Given the description of an element on the screen output the (x, y) to click on. 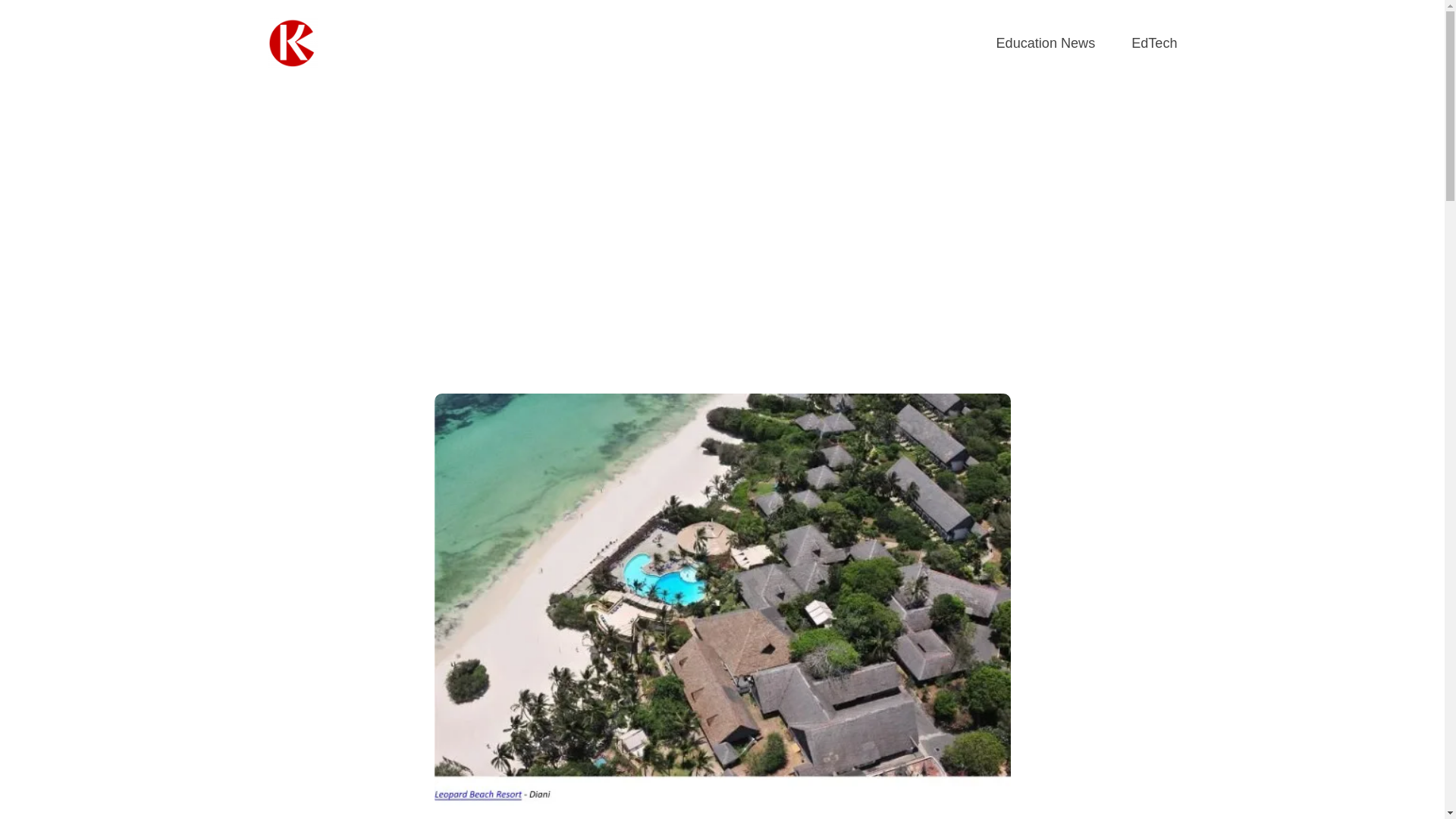
EdTech (1153, 43)
Education News (1045, 43)
